Given the description of an element on the screen output the (x, y) to click on. 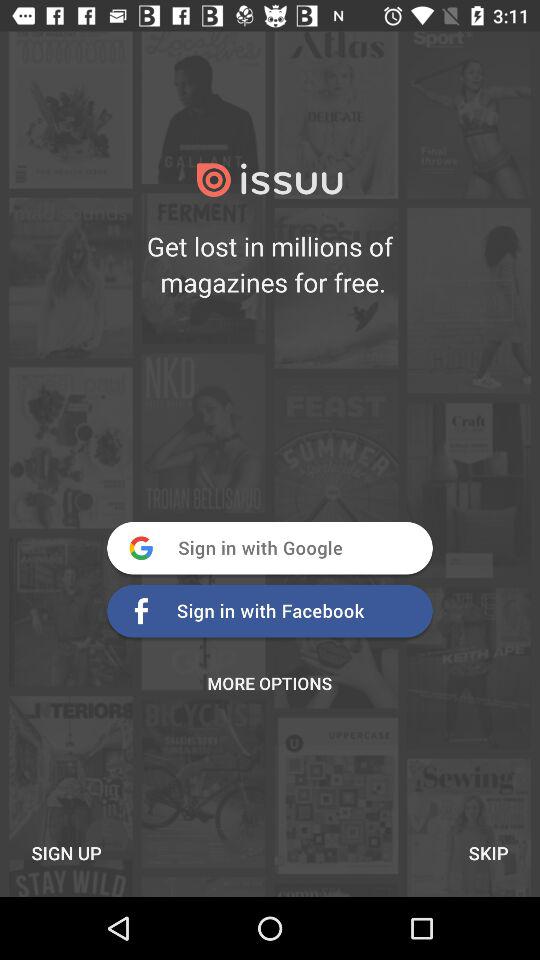
launch get lost in item (269, 263)
